Given the description of an element on the screen output the (x, y) to click on. 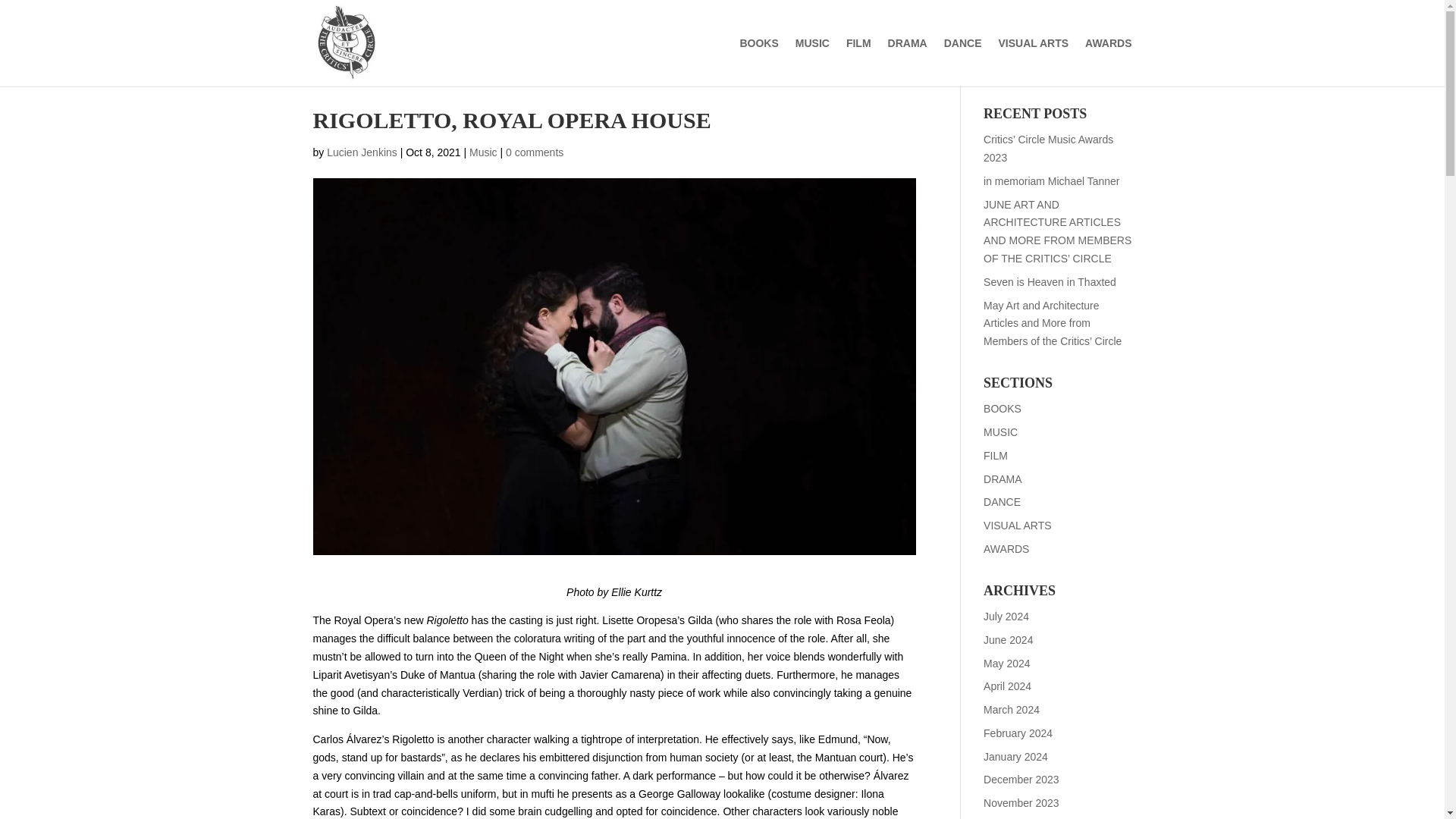
0 comments (534, 152)
MUSIC (1000, 431)
Music (482, 152)
FILM (995, 455)
Posts by Lucien Jenkins (361, 152)
February 2024 (1018, 733)
BOOKS (1003, 408)
December 2023 (1021, 779)
VISUAL ARTS (1017, 525)
DRAMA (1003, 479)
AWARDS (1107, 61)
March 2024 (1011, 709)
Seven is Heaven in Thaxted (1050, 282)
May 2024 (1006, 662)
January 2024 (1016, 756)
